Given the description of an element on the screen output the (x, y) to click on. 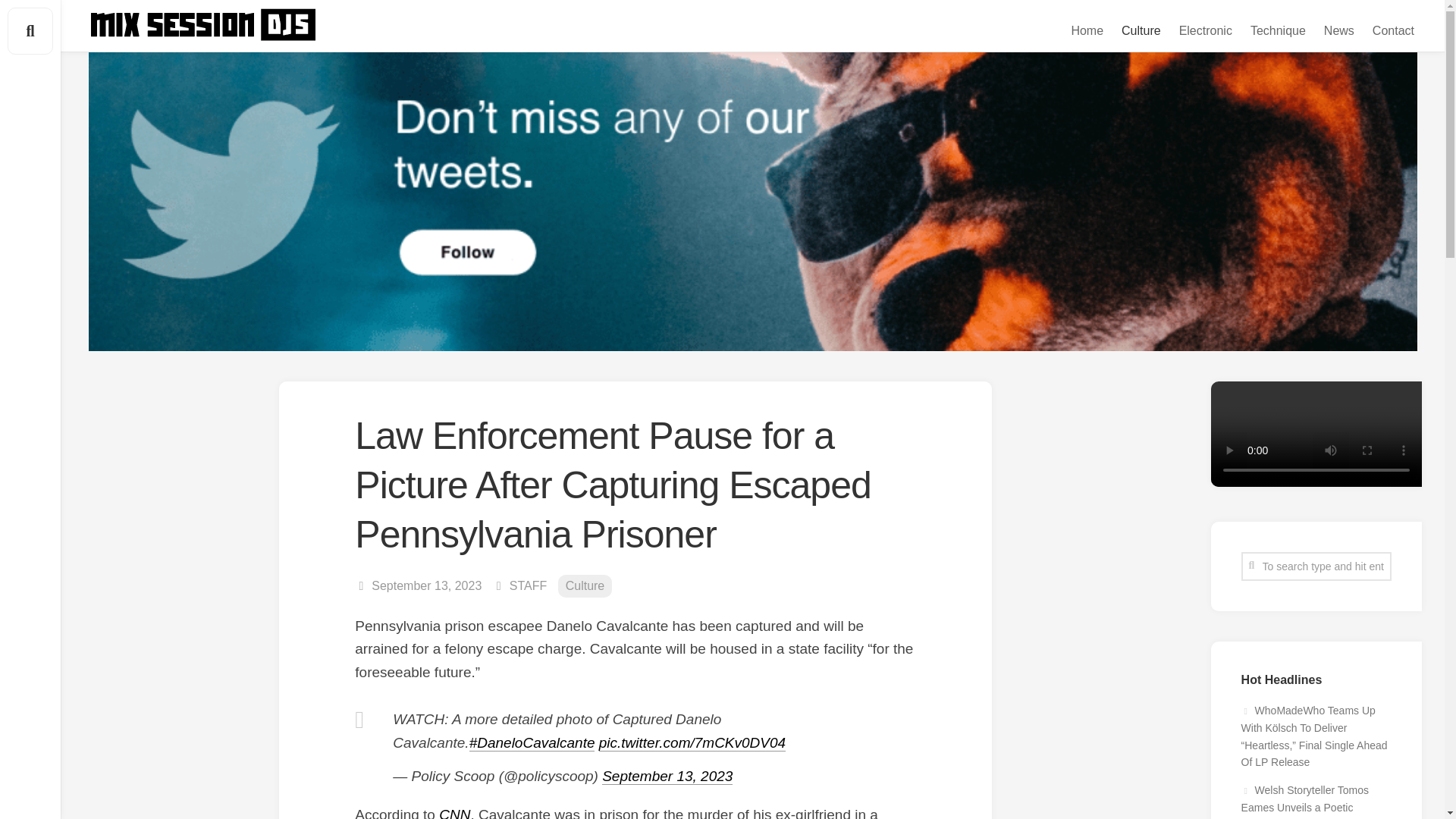
Technique (1278, 30)
Posts by STAFF (528, 585)
Culture (584, 586)
September 13, 2023 (667, 775)
Contact (1393, 30)
Culture (1140, 30)
CNN (454, 812)
STAFF (528, 585)
To search type and hit enter (1316, 566)
To search type and hit enter (1316, 566)
